Given the description of an element on the screen output the (x, y) to click on. 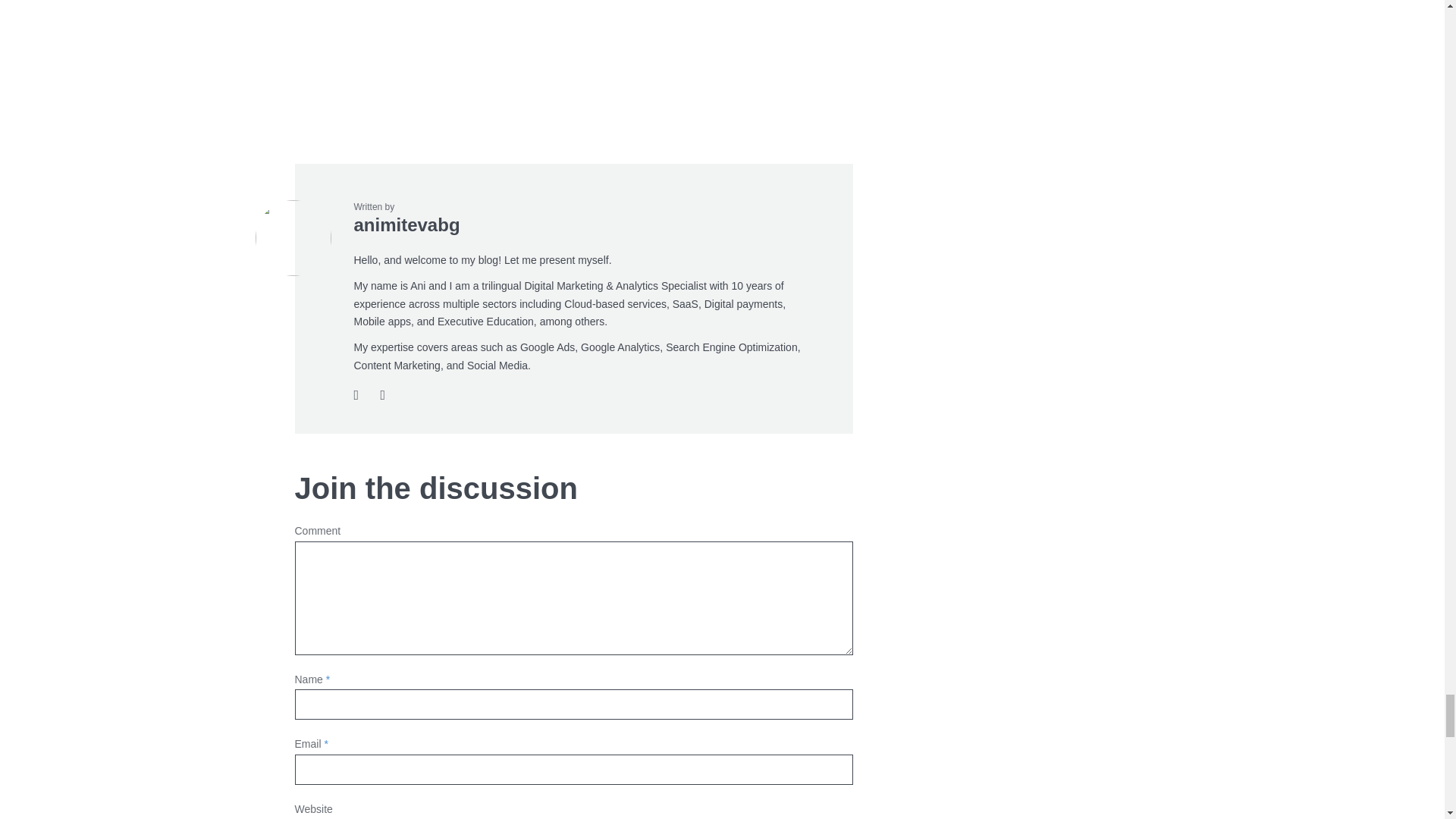
animitevabg (406, 224)
